Given the description of an element on the screen output the (x, y) to click on. 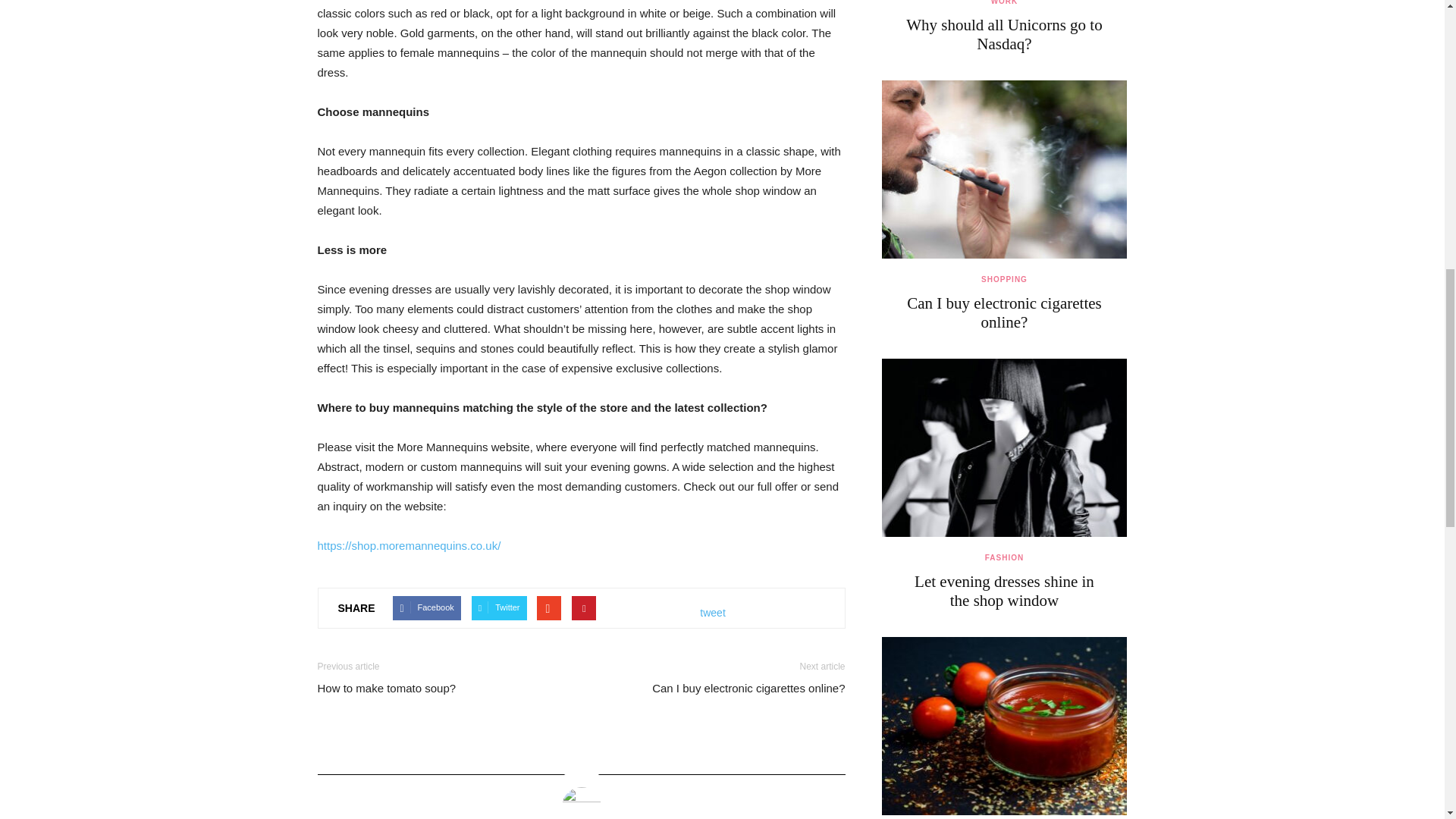
Twitter (499, 607)
Let evening dresses shine in the shop window (1003, 447)
Can I buy electronic cigarettes online? (1004, 312)
Can I buy electronic cigarettes online? (1003, 169)
Facebook (426, 607)
Let evening dresses shine in the shop window (1004, 590)
Why should all Unicorns go to Nasdaq? (1003, 34)
